Given the description of an element on the screen output the (x, y) to click on. 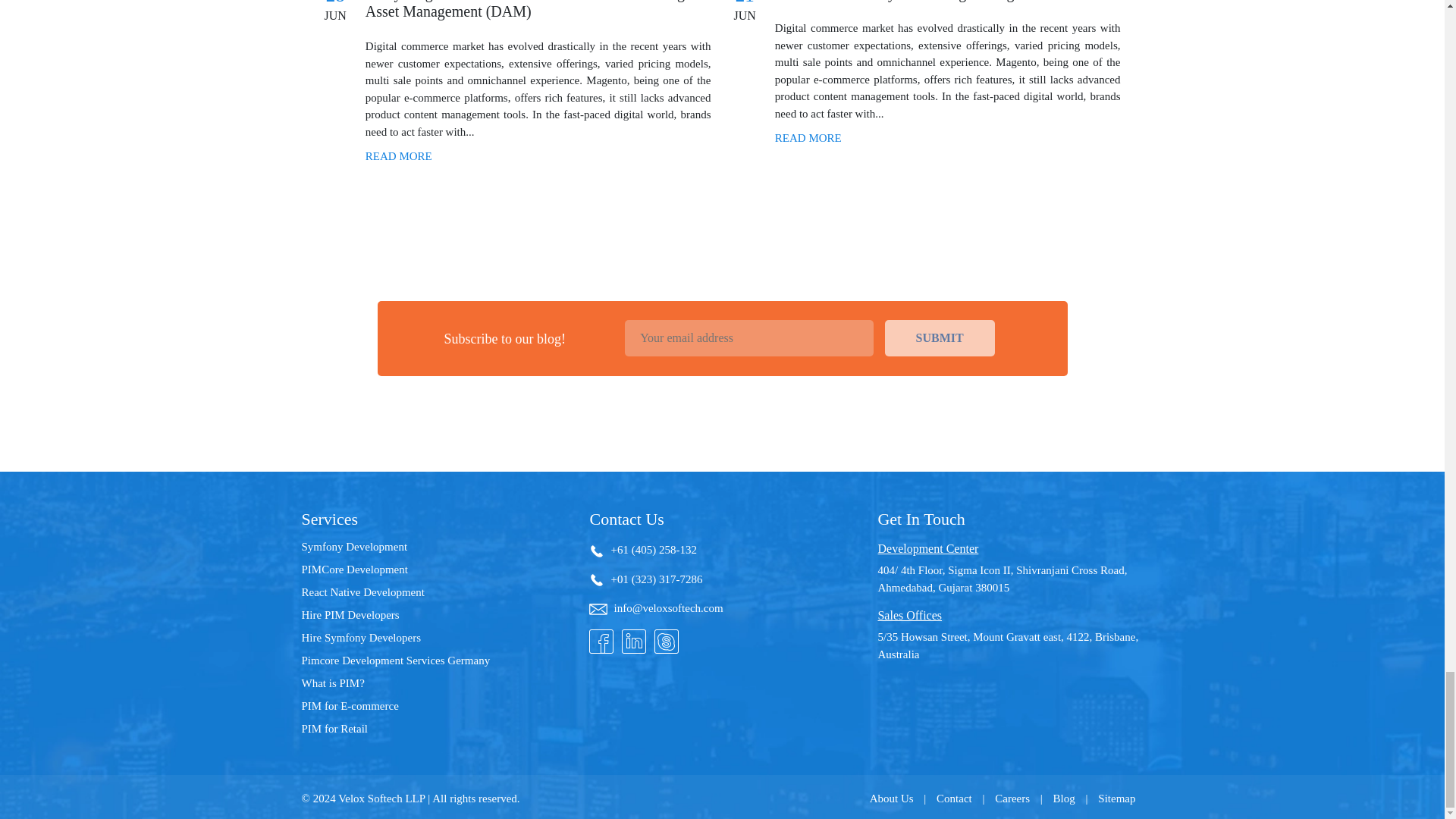
Call Us (599, 550)
Email Us (600, 609)
Call Us (599, 580)
